Given the description of an element on the screen output the (x, y) to click on. 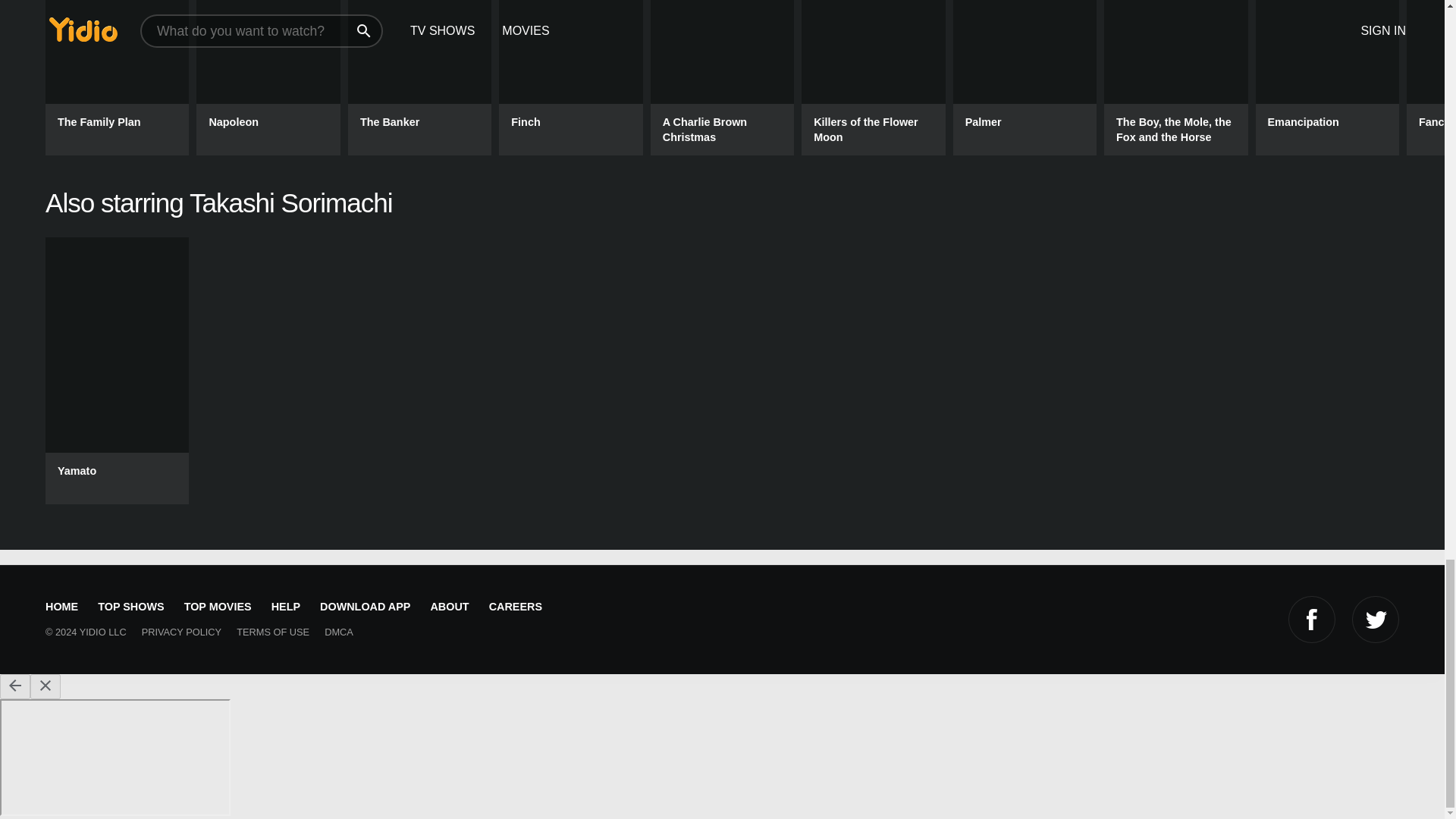
Napoleon (267, 77)
HOME (60, 606)
The Boy, the Mole, the Fox and the Horse (1175, 77)
TOP SHOWS (130, 606)
CAREERS (515, 606)
A Charlie Brown Christmas (721, 77)
TOP MOVIES (218, 606)
DOWNLOAD APP (365, 606)
ABOUT (449, 606)
PRIVACY POLICY (181, 632)
